Given the description of an element on the screen output the (x, y) to click on. 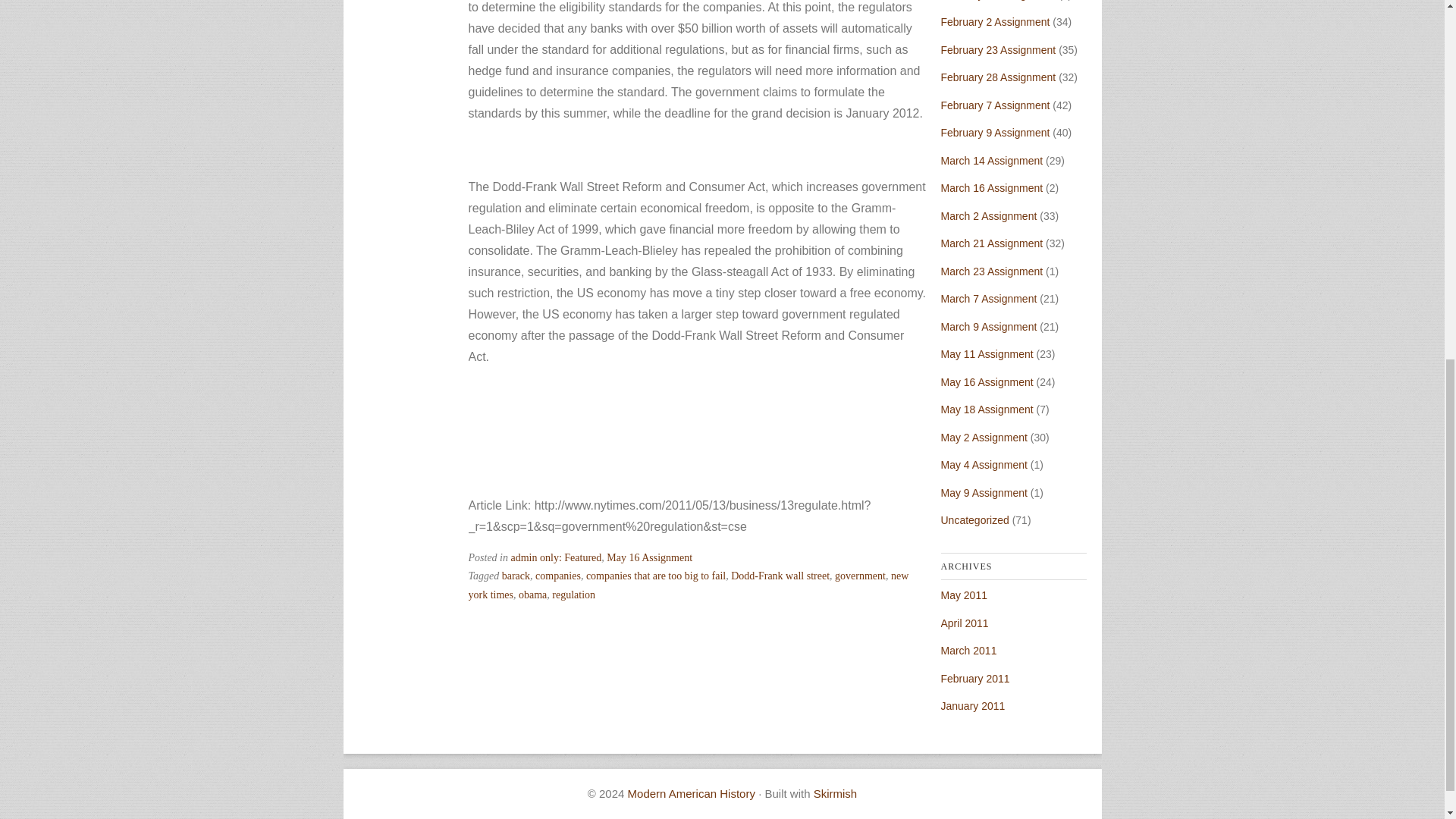
admin only: Featured (556, 557)
obama (532, 594)
February 9 Assignment (994, 132)
March 23 Assignment (991, 271)
regulation (573, 594)
February 2 Assignment (994, 21)
government (859, 575)
Dodd-Frank wall street (779, 575)
March 14 Assignment (991, 160)
March 21 Assignment (991, 243)
February 28 Assignment (997, 77)
March 16 Assignment (991, 187)
February 7 Assignment (994, 105)
March 2 Assignment (988, 215)
